Given the description of an element on the screen output the (x, y) to click on. 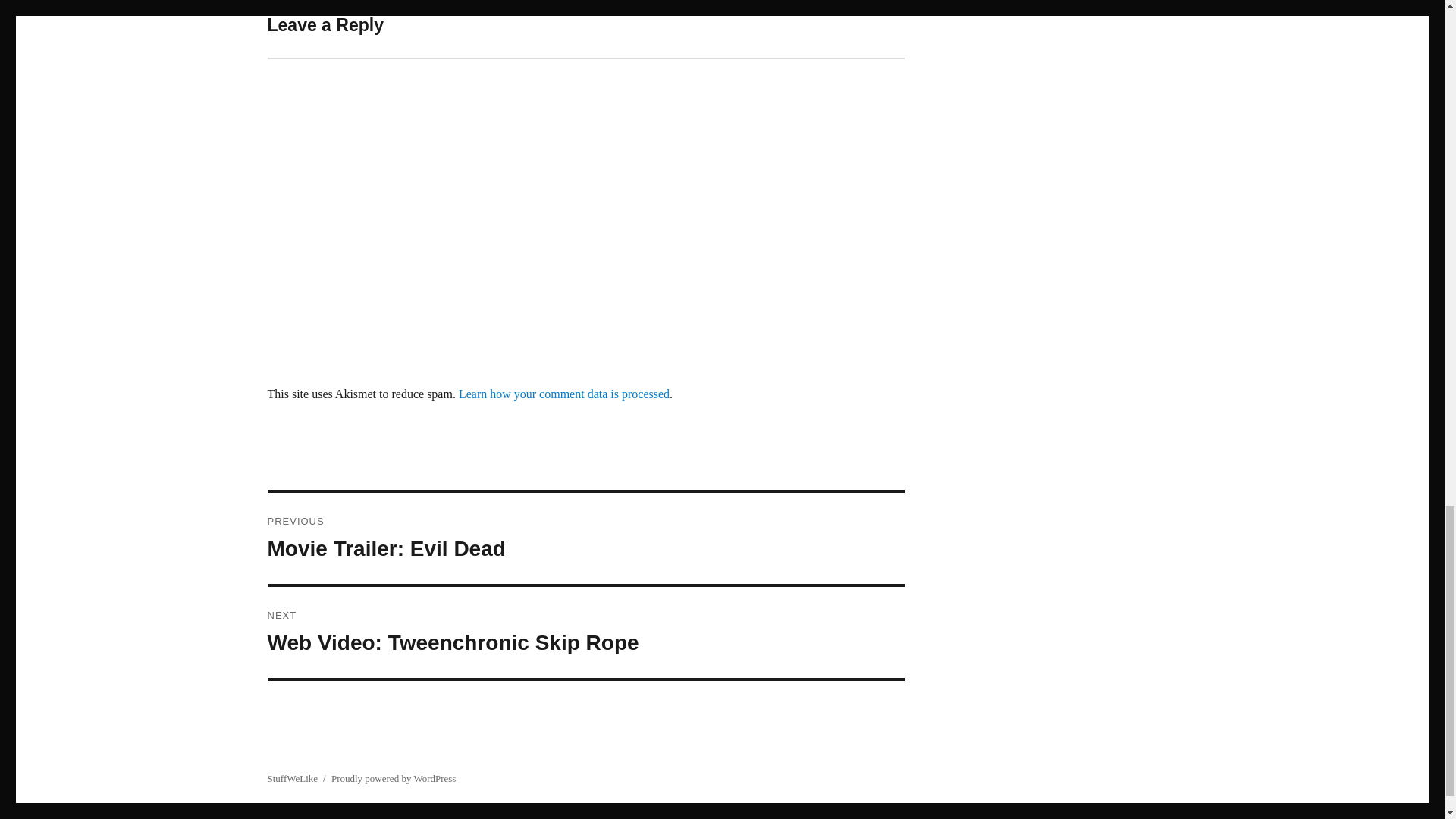
Learn how your comment data is processed (585, 538)
Comment Form (585, 632)
